Given the description of an element on the screen output the (x, y) to click on. 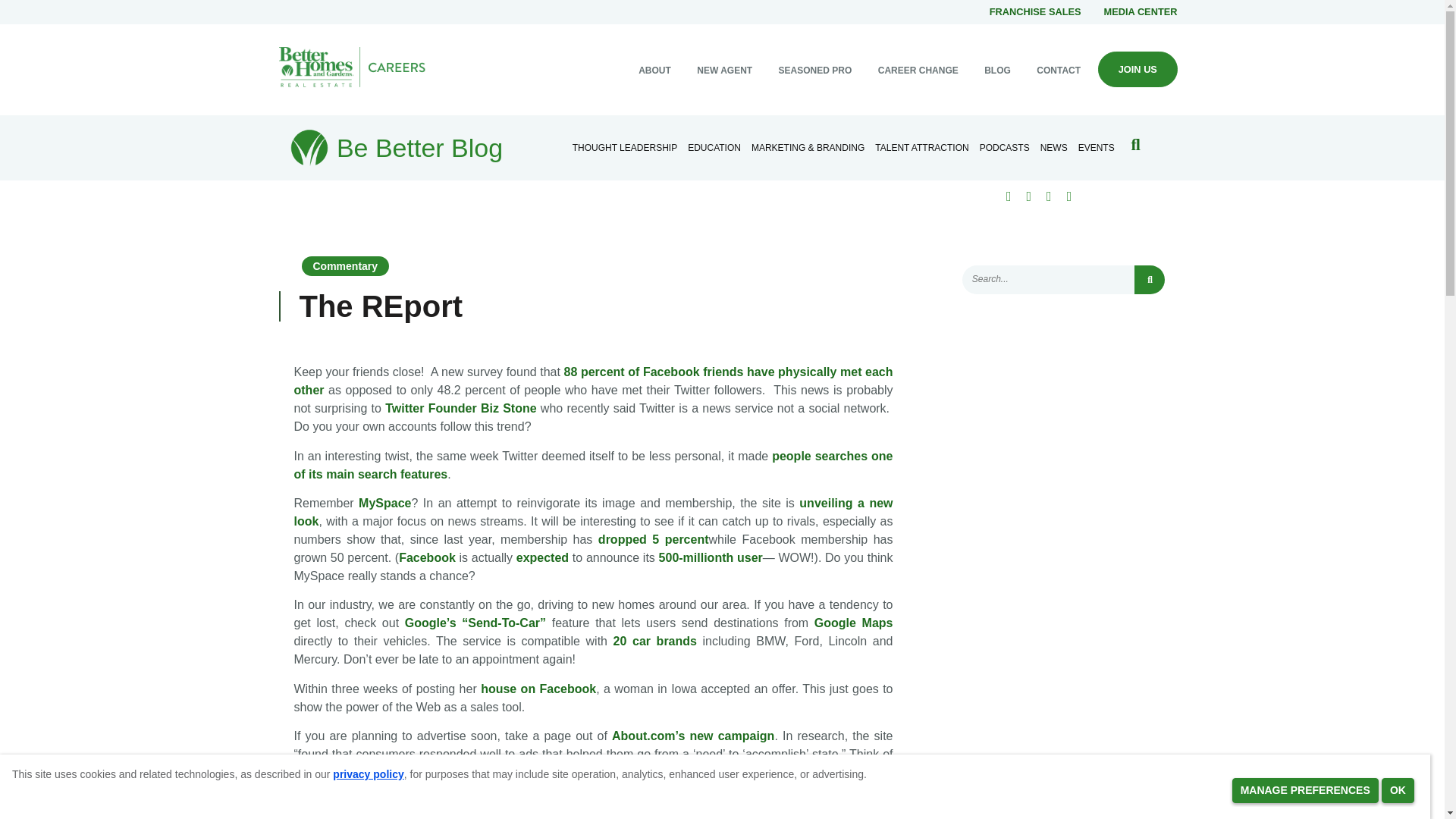
NEWS (1054, 147)
JOIN US (1136, 68)
MySpace (384, 502)
TALENT ATTRACTION (921, 147)
PODCASTS (1004, 147)
EDUCATION (713, 147)
ABOUT (655, 70)
THOUGHT LEADERSHIP (624, 147)
CAREER CHANGE (917, 70)
